Given the description of an element on the screen output the (x, y) to click on. 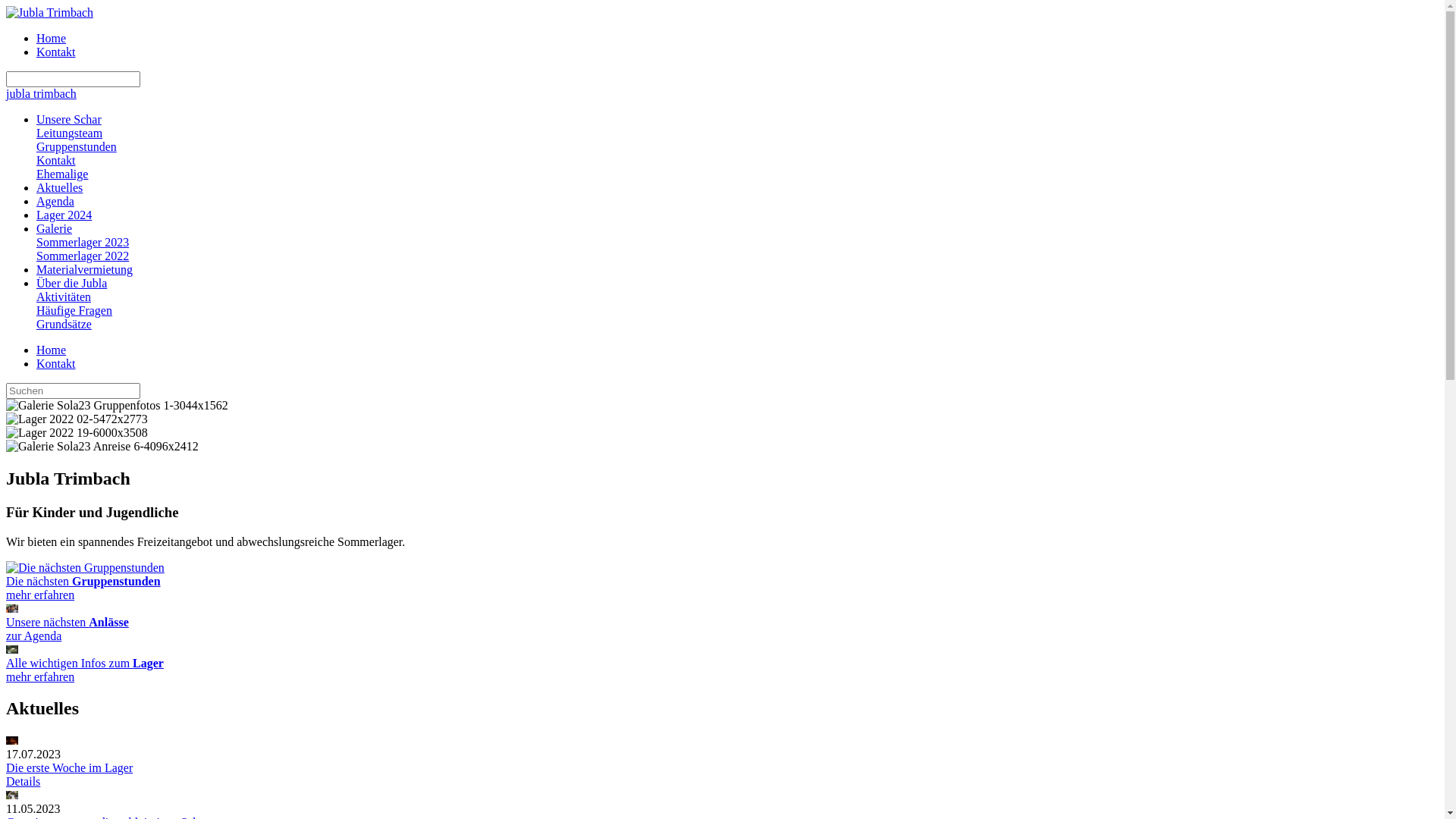
Home Element type: text (50, 37)
Unsere Schar Element type: text (68, 118)
Gruppenstunden Element type: text (76, 146)
Sommerlager 2023 Element type: text (82, 241)
Jubla Trimbach Element type: hover (49, 12)
Leitungsteam Element type: text (69, 132)
Alle wichtigen Infos zum Lager Element type: text (84, 662)
Gemeinsam gegen die geldgierigen Schmarotzer Element type: hover (722, 795)
mehr erfahren Element type: text (40, 594)
Home Element type: text (50, 349)
Alle wichtigen Infos zum Lager Element type: hover (12, 649)
Die erste Woche im Lager Element type: text (69, 767)
Jubla Trimbach Element type: hover (49, 12)
Die erste Woche im Lager Element type: hover (12, 740)
Gemeinsam gegen die geldgierigen Schmarotzer Element type: hover (12, 794)
Ehemalige Element type: text (61, 173)
zur Agenda Element type: hover (12, 608)
mehr erfahren Element type: hover (12, 649)
Kontakt Element type: text (55, 363)
Materialvermietung Element type: text (84, 269)
Details Element type: text (23, 781)
Aktuelles Element type: text (59, 187)
Lager 2024 Element type: text (63, 214)
Die erste Woche im Lager Element type: hover (722, 740)
Kontakt Element type: text (55, 51)
Galerie Element type: text (54, 228)
mehr erfahren Element type: hover (85, 567)
Agenda Element type: text (55, 200)
mehr erfahren Element type: text (40, 676)
Kontakt Element type: text (55, 159)
zur Agenda Element type: text (33, 635)
jubla trimbach Element type: text (41, 93)
Sommerlager 2022 Element type: text (82, 255)
